Given the description of an element on the screen output the (x, y) to click on. 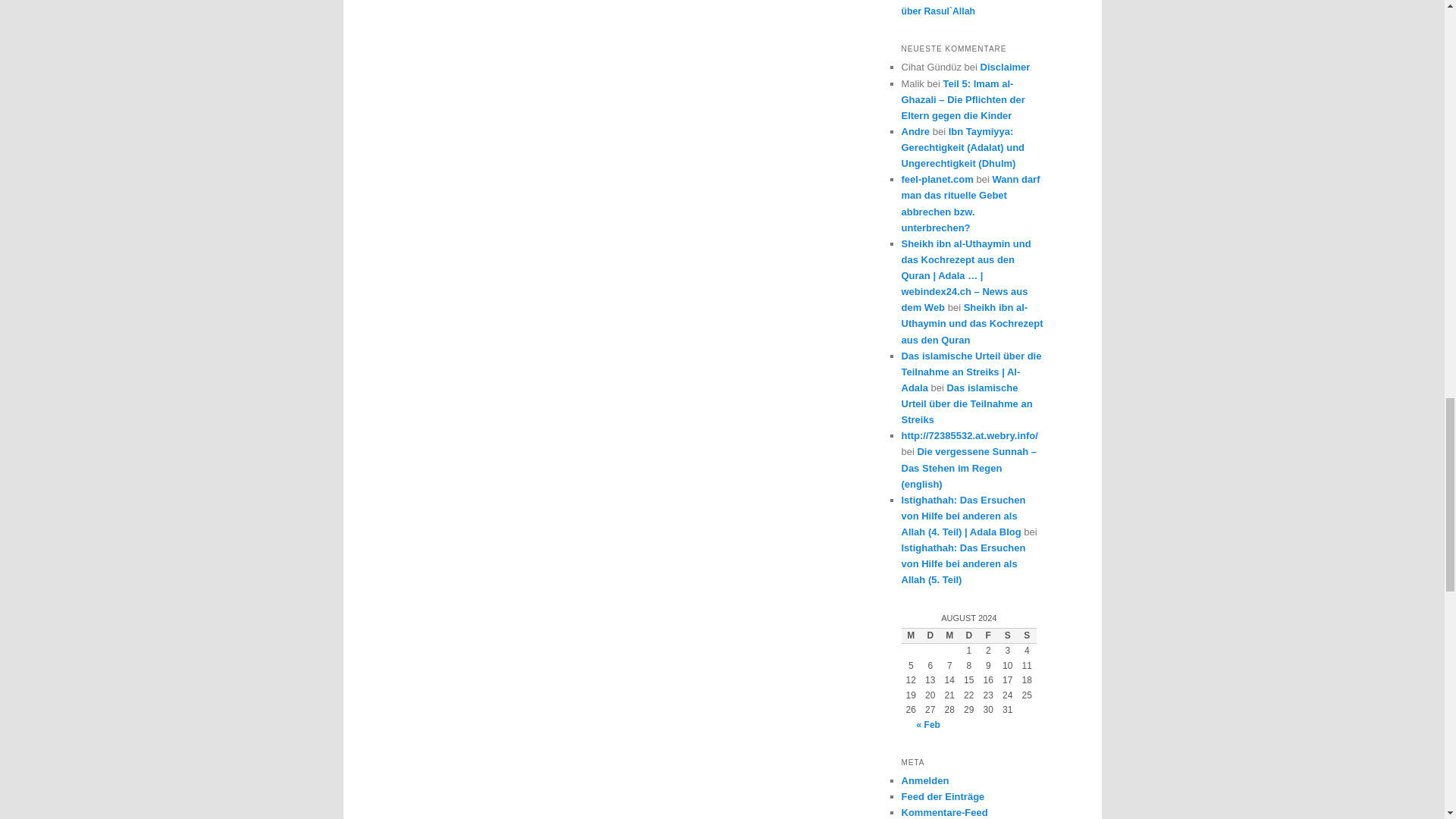
Sonntag (1026, 636)
Donnerstag (968, 636)
Samstag (1007, 636)
Freitag (987, 636)
Montag (910, 636)
Dienstag (930, 636)
Mittwoch (949, 636)
